Given the description of an element on the screen output the (x, y) to click on. 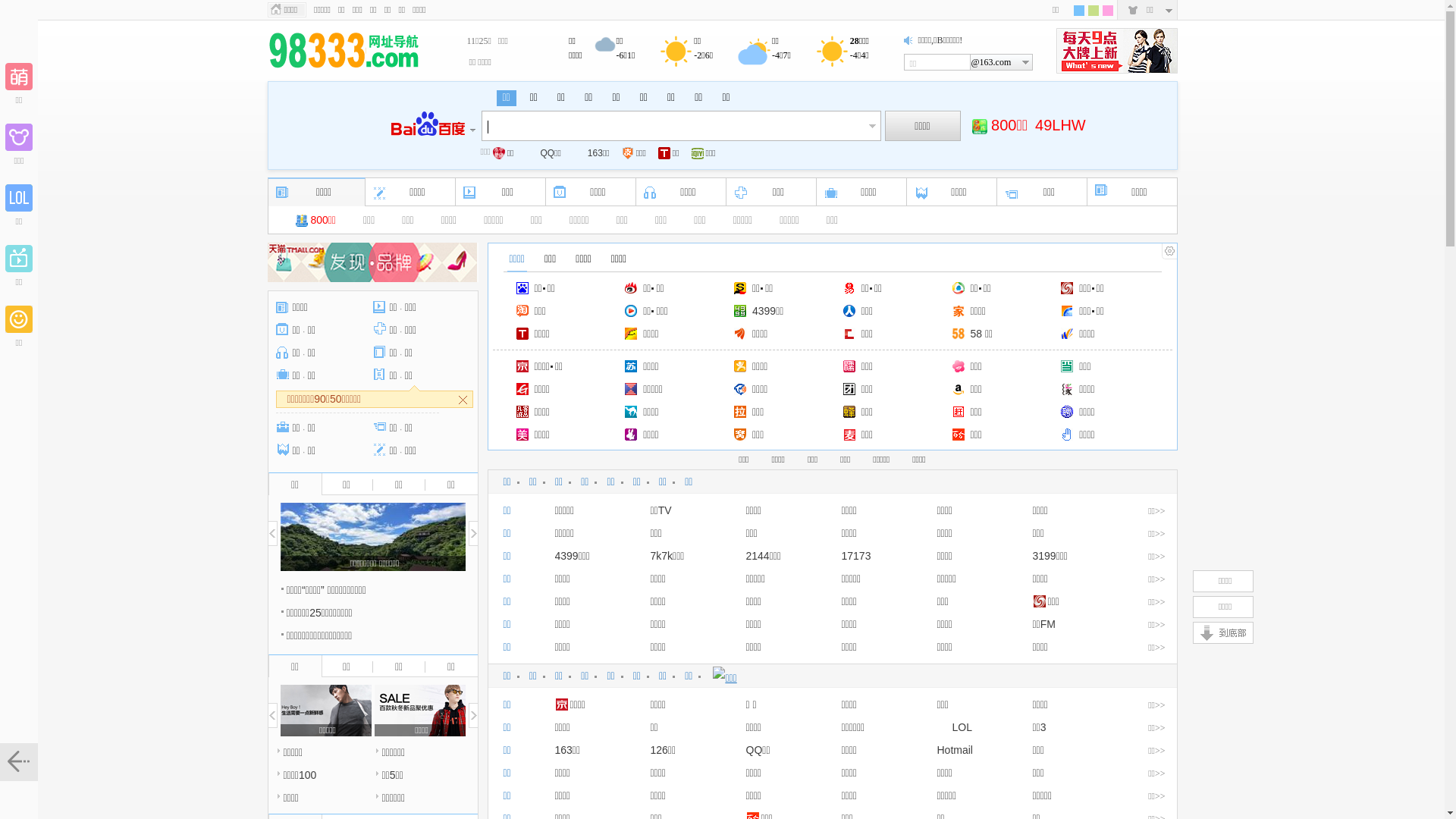
49LHW Element type: text (1060, 125)
17173 Element type: text (856, 555)
LOL Element type: text (954, 727)
Hotmail Element type: text (954, 749)
